Given the description of an element on the screen output the (x, y) to click on. 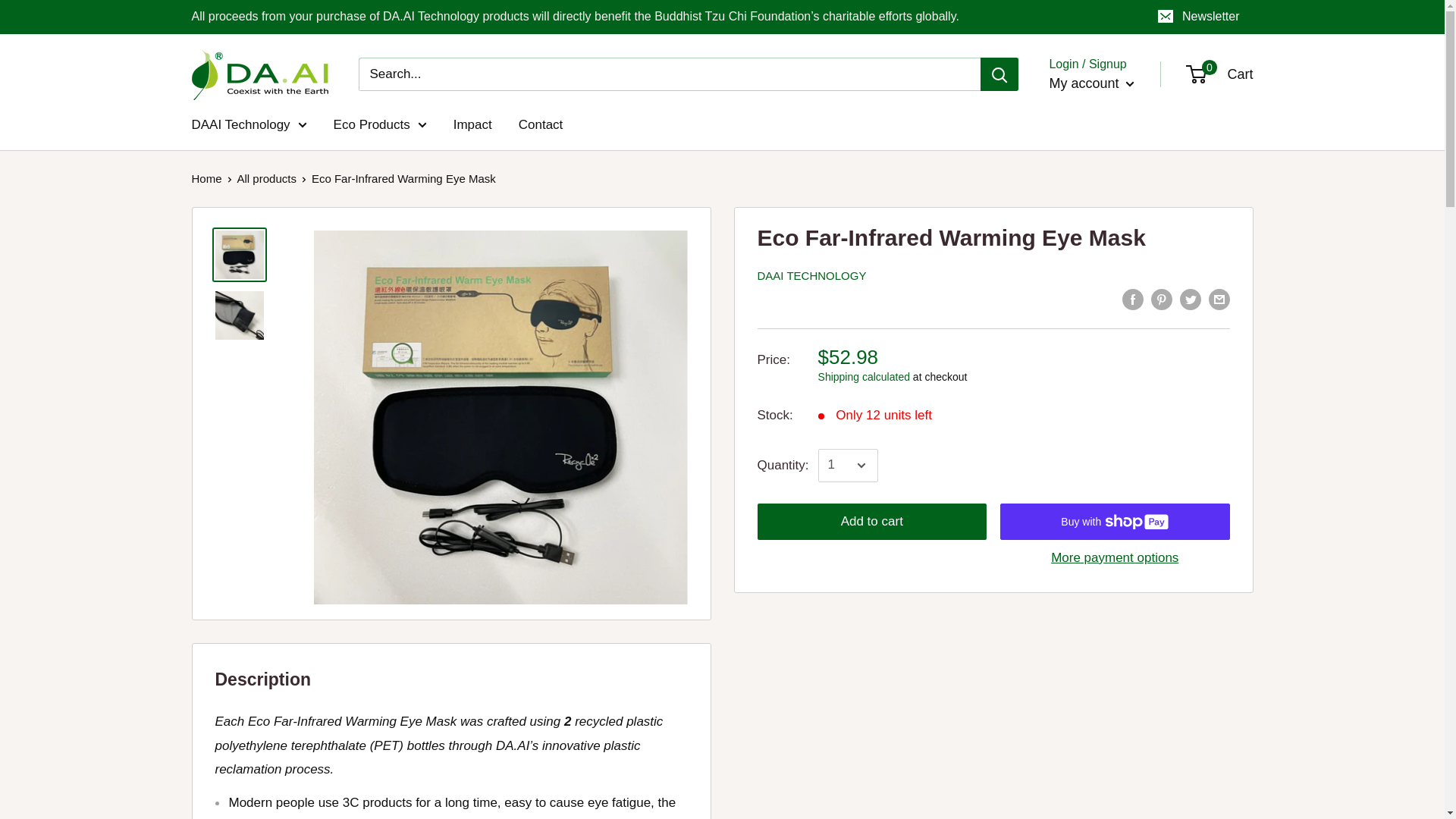
Newsletter (1200, 16)
